Given the description of an element on the screen output the (x, y) to click on. 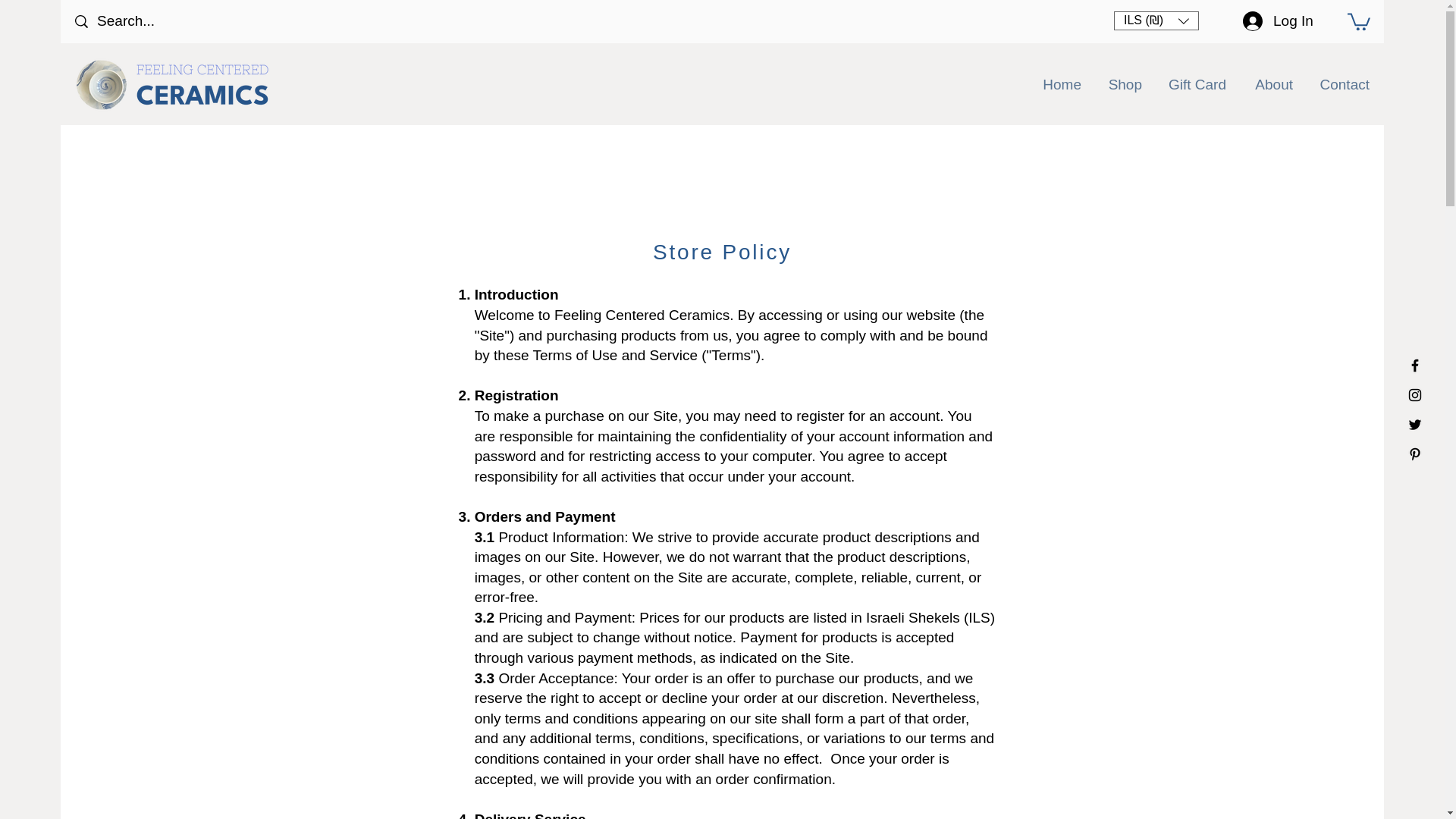
Gift Card (1191, 85)
Contact (1338, 85)
Shop (1119, 85)
Log In (1277, 21)
Home (1055, 85)
About (1266, 85)
